Given the description of an element on the screen output the (x, y) to click on. 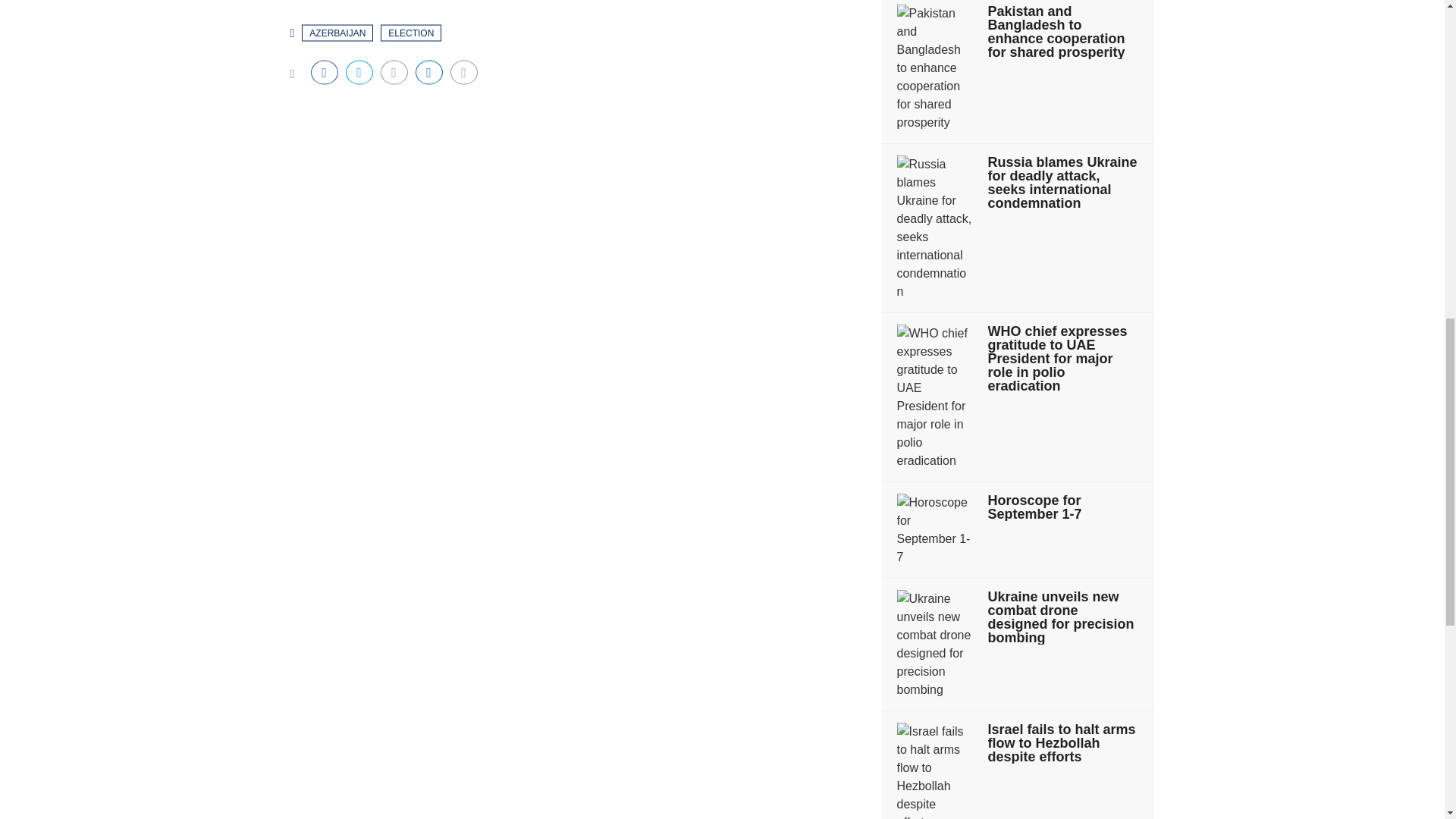
AZERBAIJAN (336, 32)
ELECTION (410, 32)
Share news on Facebook (324, 71)
Share news on Twitter (359, 71)
